Given the description of an element on the screen output the (x, y) to click on. 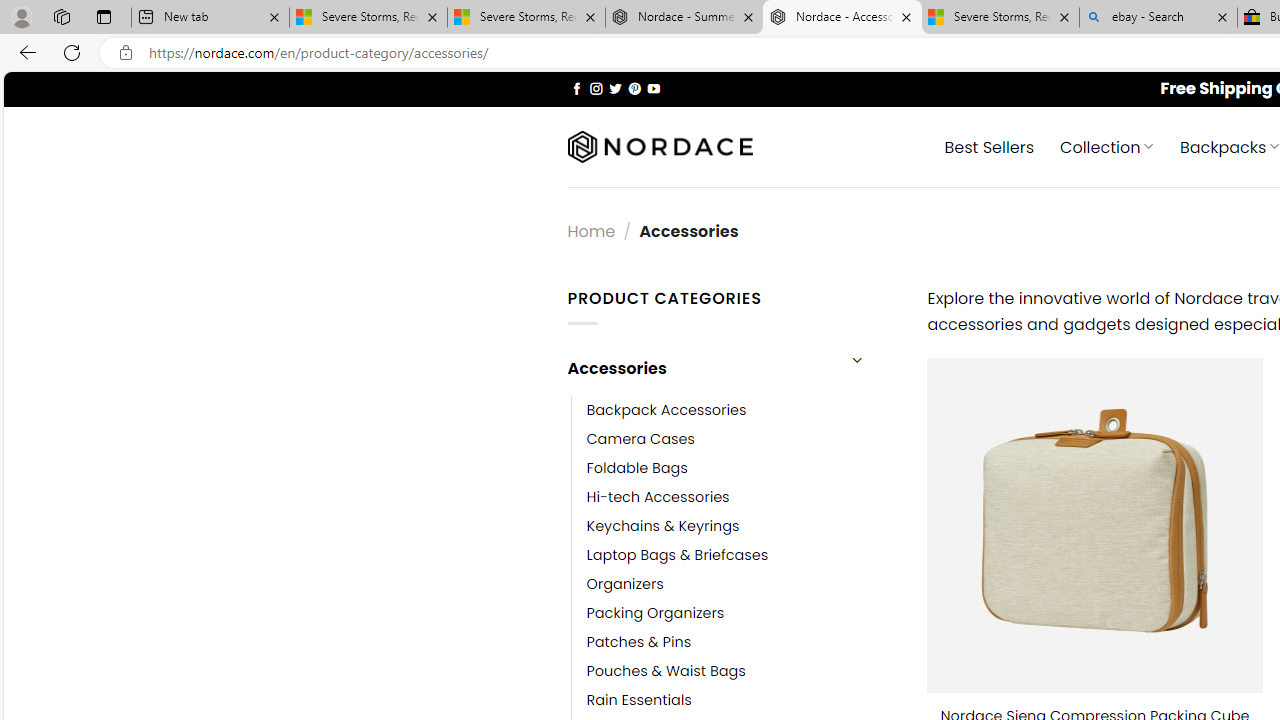
Patches & Pins (742, 642)
Organizers (742, 584)
Backpack Accessories (742, 409)
Packing Organizers (655, 614)
Rain Essentials (742, 700)
Camera Cases (742, 439)
Follow on Instagram (596, 88)
Foldable Bags (637, 467)
Packing Organizers (742, 614)
Rain Essentials (639, 700)
